Given the description of an element on the screen output the (x, y) to click on. 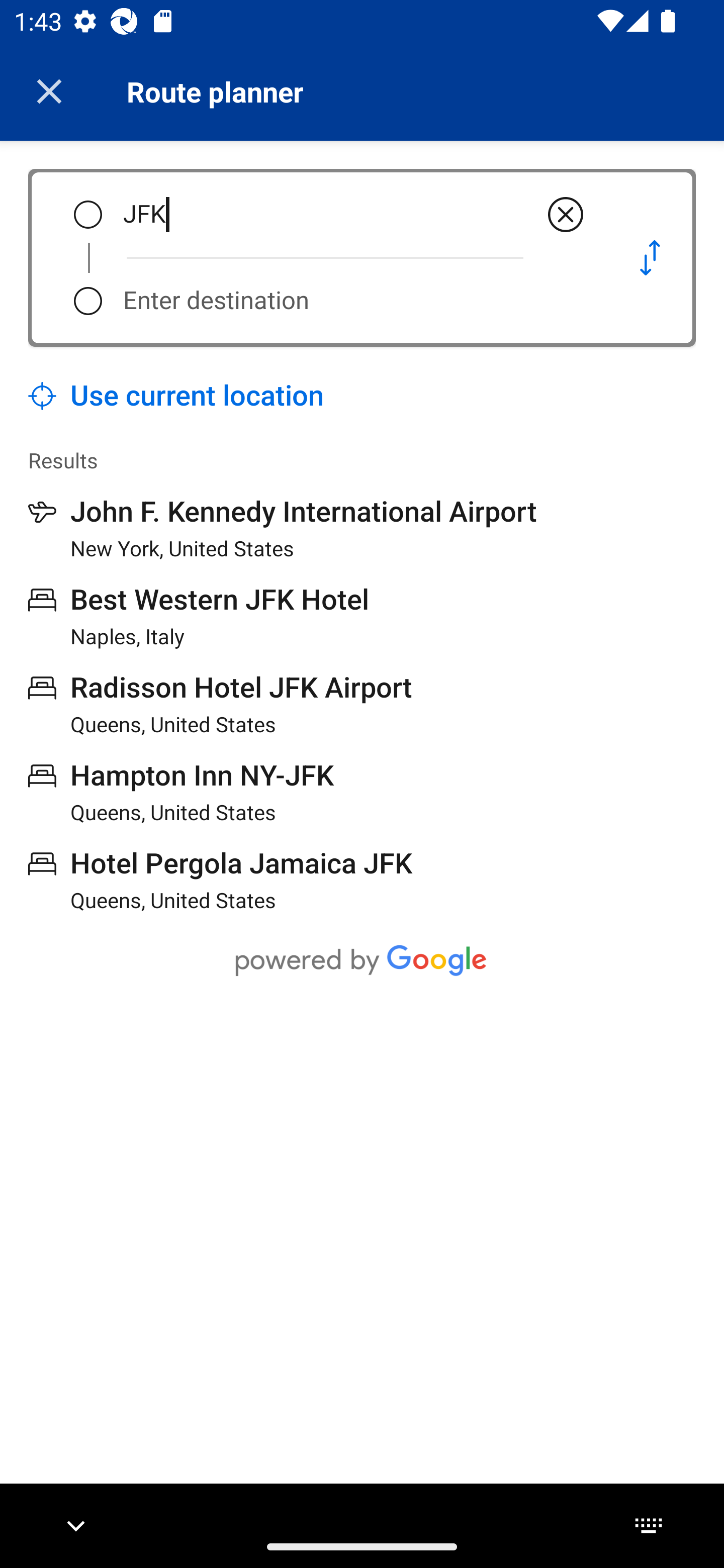
Close (49, 91)
JFK Clear (355, 214)
Clear (565, 214)
Swap pick-up location and destination (650, 257)
Enter destination (355, 300)
Use current location (176, 395)
Best Western JFK Hotel Naples, Italy (198, 615)
Radisson Hotel JFK Airport Queens, United States (220, 703)
Hampton Inn NY-JFK Queens, United States (181, 791)
Hotel Pergola Jamaica JFK Queens, United States (220, 879)
